Given the description of an element on the screen output the (x, y) to click on. 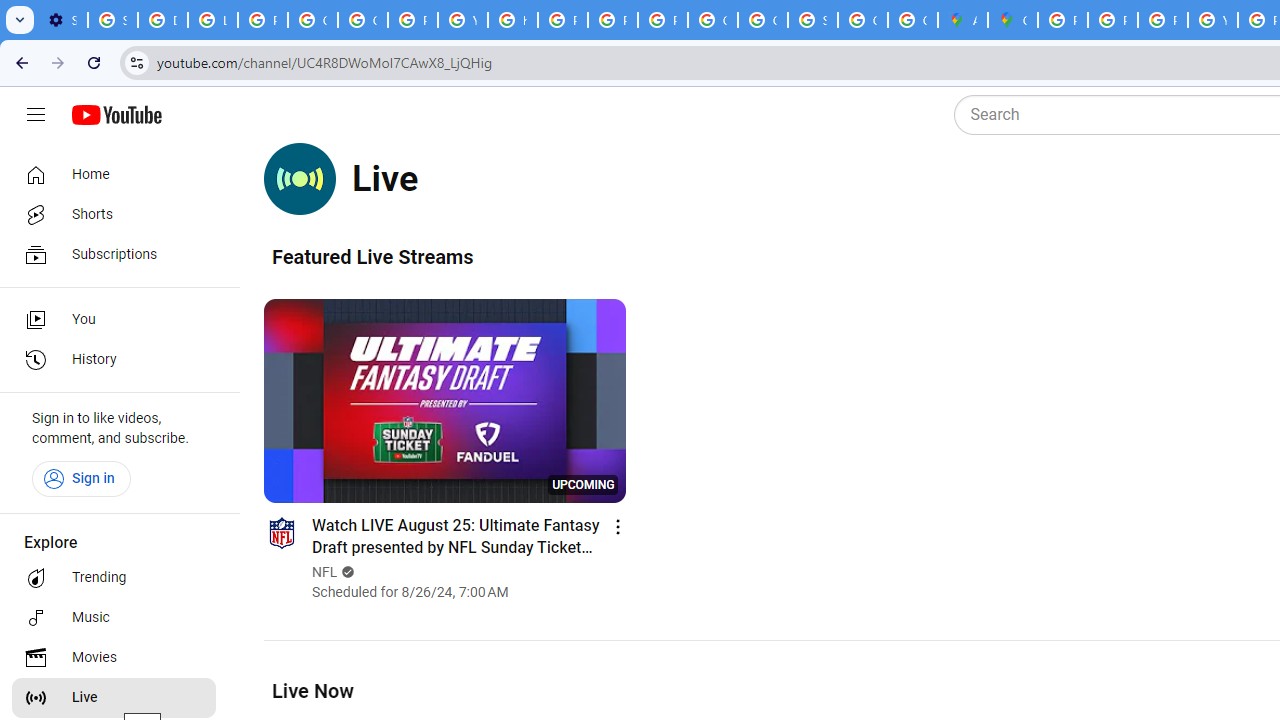
Settings - On startup (62, 20)
Home (113, 174)
Google Account Help (362, 20)
Privacy Help Center - Policies Help (1162, 20)
Sign in - Google Accounts (113, 20)
Sign in (81, 478)
Privacy Help Center - Policies Help (562, 20)
https://scholar.google.com/ (512, 20)
History (113, 359)
Subscriptions (113, 254)
Verified (345, 572)
